Given the description of an element on the screen output the (x, y) to click on. 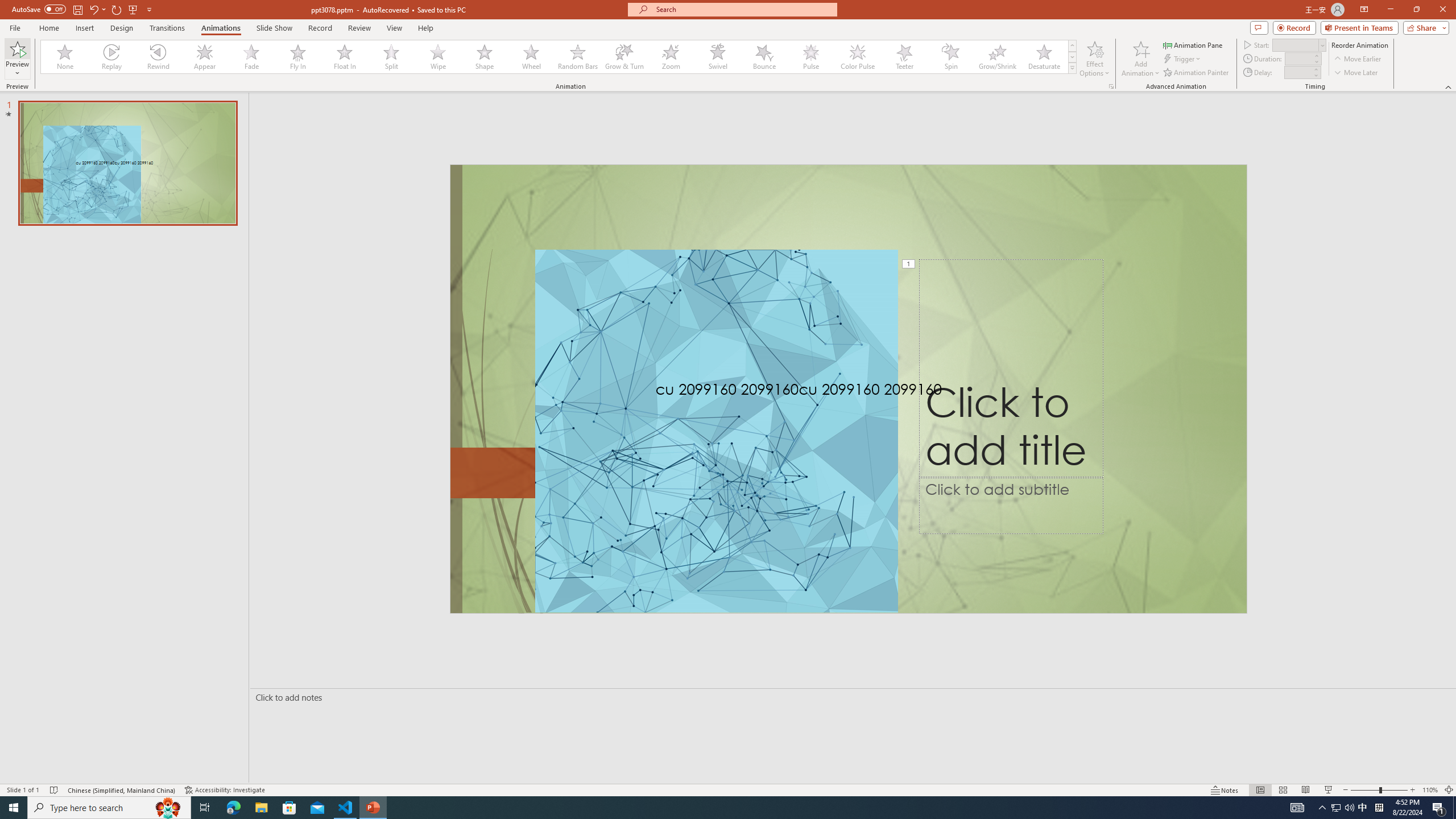
Move Earlier (1357, 58)
Fly In (298, 56)
Pulse (810, 56)
Animation Painter (1196, 72)
Split (391, 56)
